Given the description of an element on the screen output the (x, y) to click on. 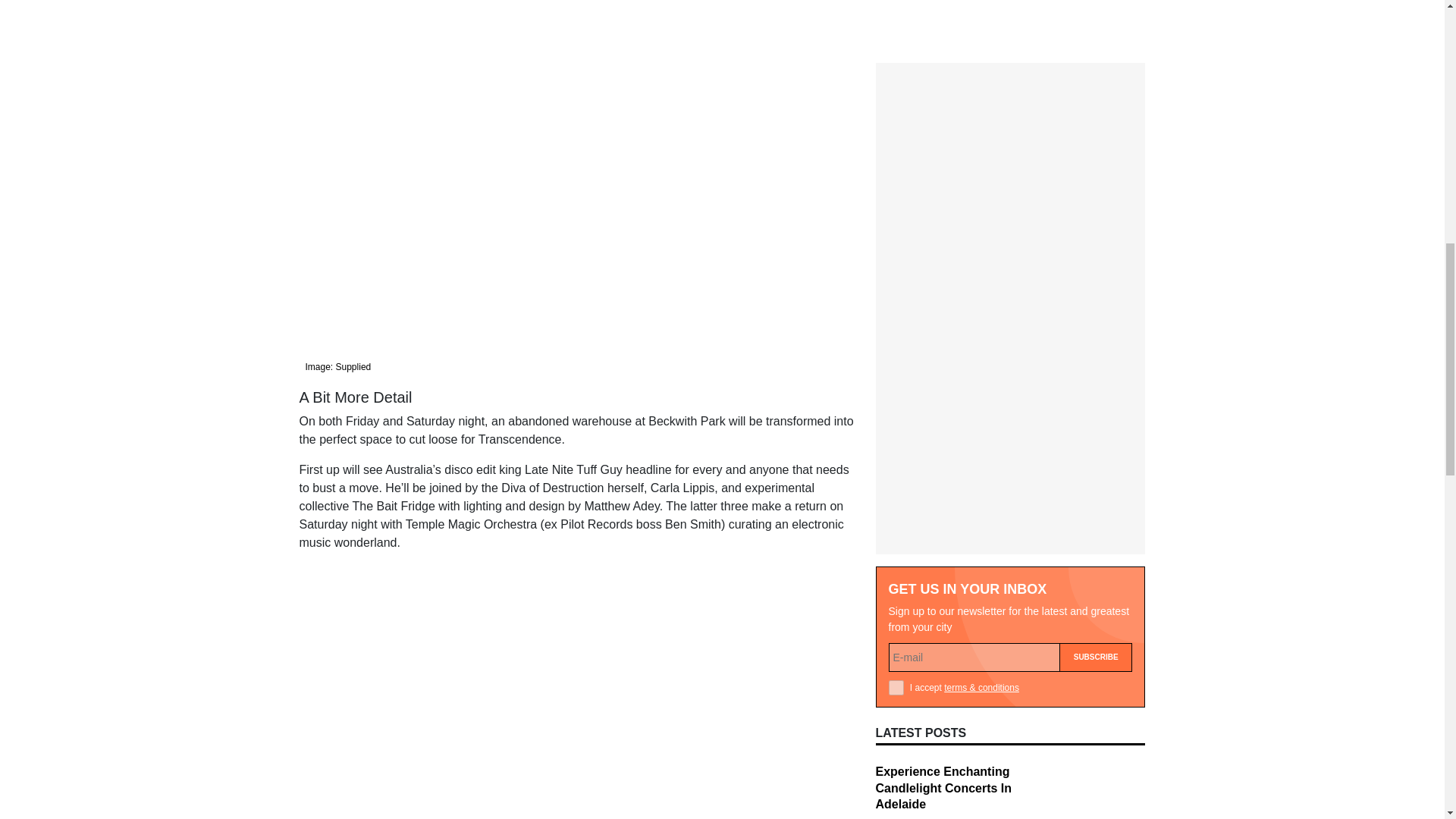
AUGUST 1, 2024 (910, 622)
AUGUST 12, 2024 (913, 522)
1 (896, 381)
Subscribe (1095, 350)
JULY 18, 2024 (904, 721)
Experience Enchanting Candlelight Concerts In Adelaide (943, 481)
Subscribe (1095, 350)
